Given the description of an element on the screen output the (x, y) to click on. 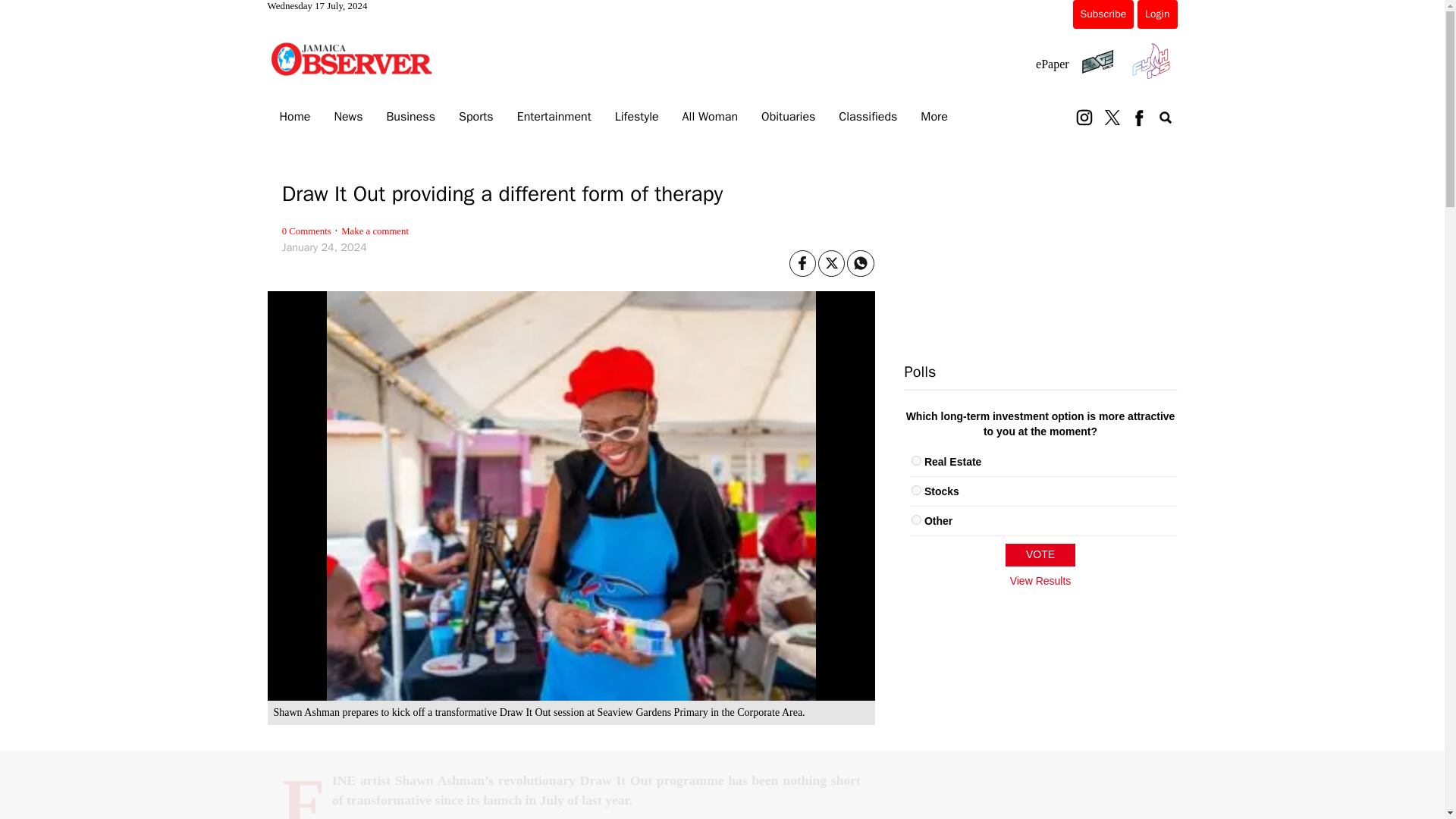
Subscribe (1103, 14)
Login (1156, 14)
ePaper (1051, 64)
